Given the description of an element on the screen output the (x, y) to click on. 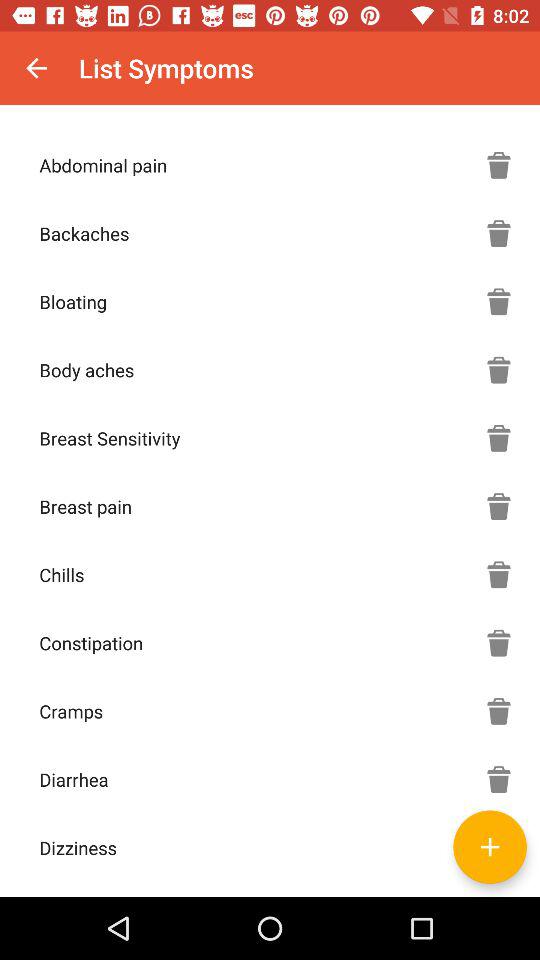
add more symptoms (499, 847)
